Given the description of an element on the screen output the (x, y) to click on. 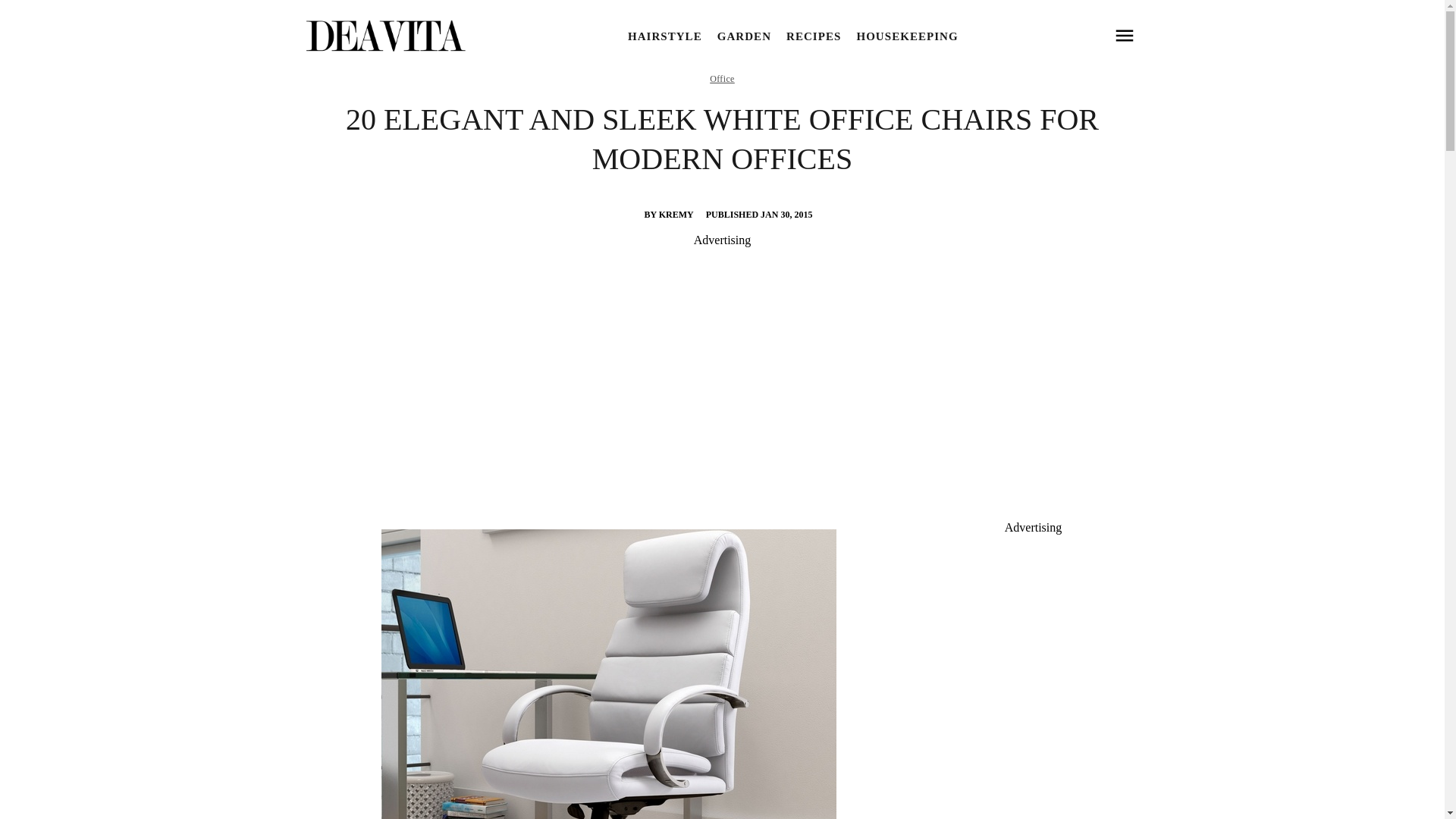
GARDEN (744, 36)
HOUSEKEEPING (907, 36)
open menu (1124, 36)
HAIRSTYLE (664, 36)
Deavita (383, 36)
RECIPES (813, 36)
